Given the description of an element on the screen output the (x, y) to click on. 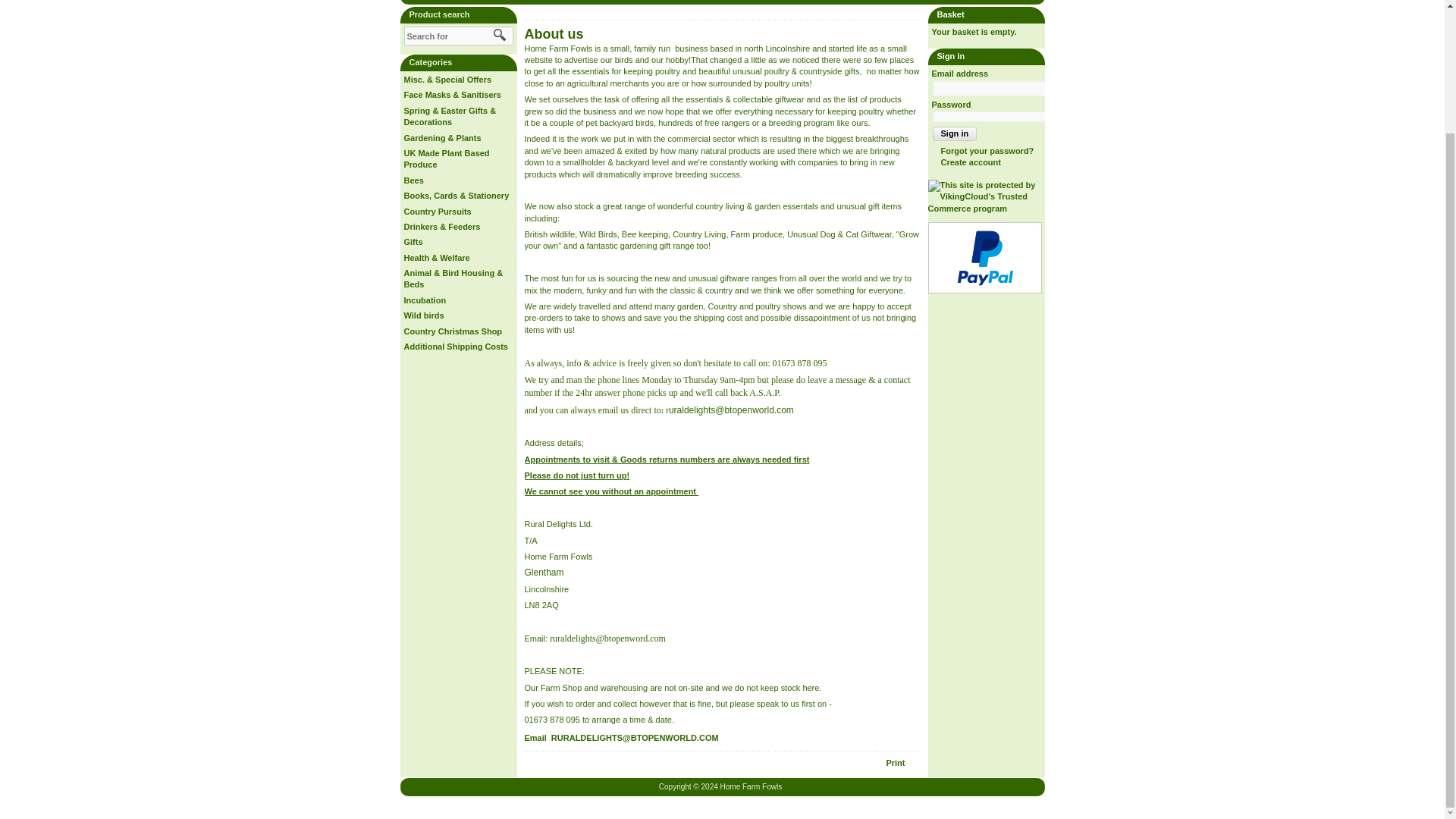
Forgot your password? (982, 150)
About us (629, 2)
Shipping (814, 2)
Wild birds (423, 315)
Home (586, 2)
Gifts (412, 241)
Print (902, 763)
Create account (965, 162)
Bees (413, 180)
